Given the description of an element on the screen output the (x, y) to click on. 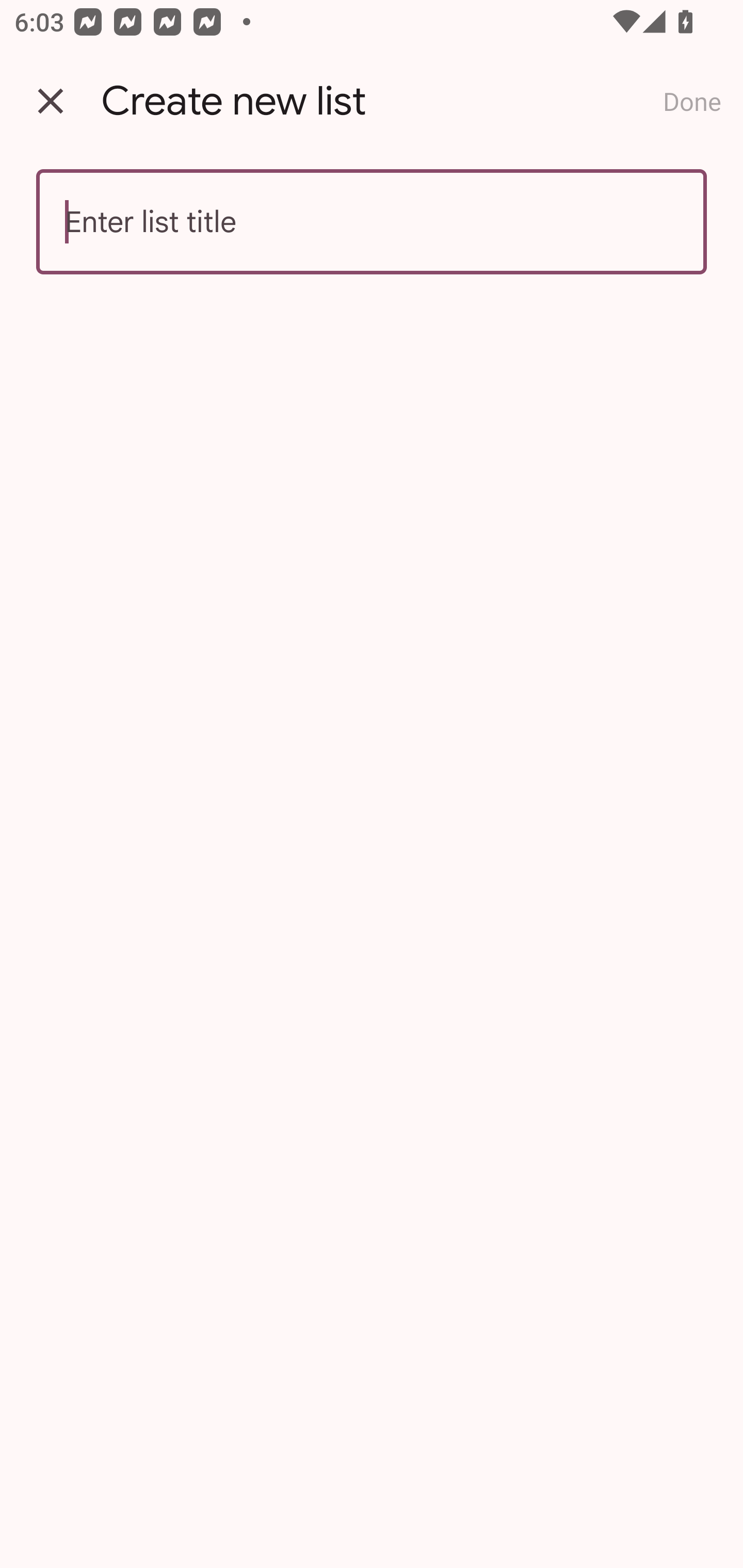
Back (50, 101)
Done (692, 101)
Enter list title (371, 221)
